Given the description of an element on the screen output the (x, y) to click on. 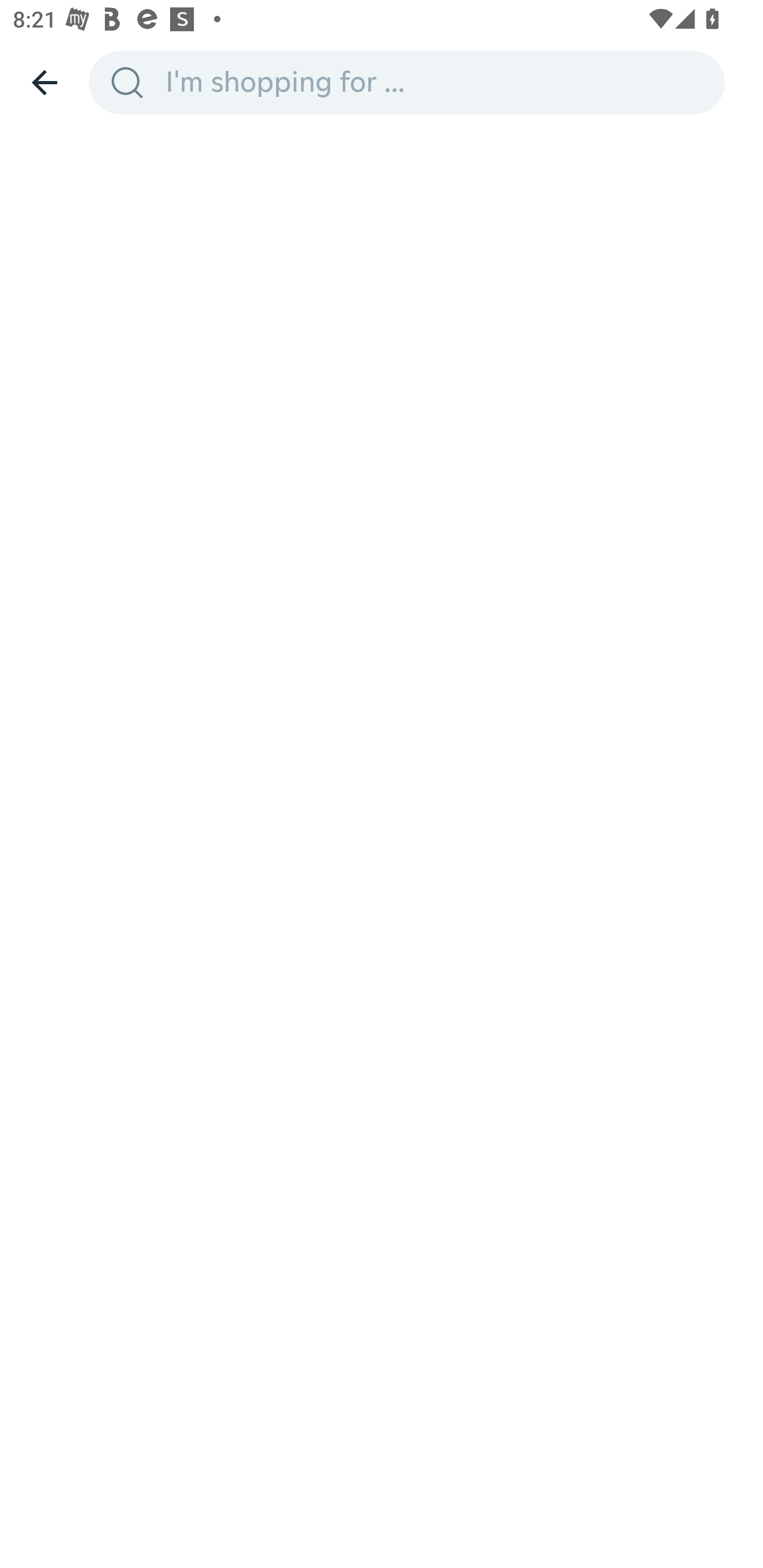
Navigate up (44, 82)
I'm shopping for ... (438, 81)
